Given the description of an element on the screen output the (x, y) to click on. 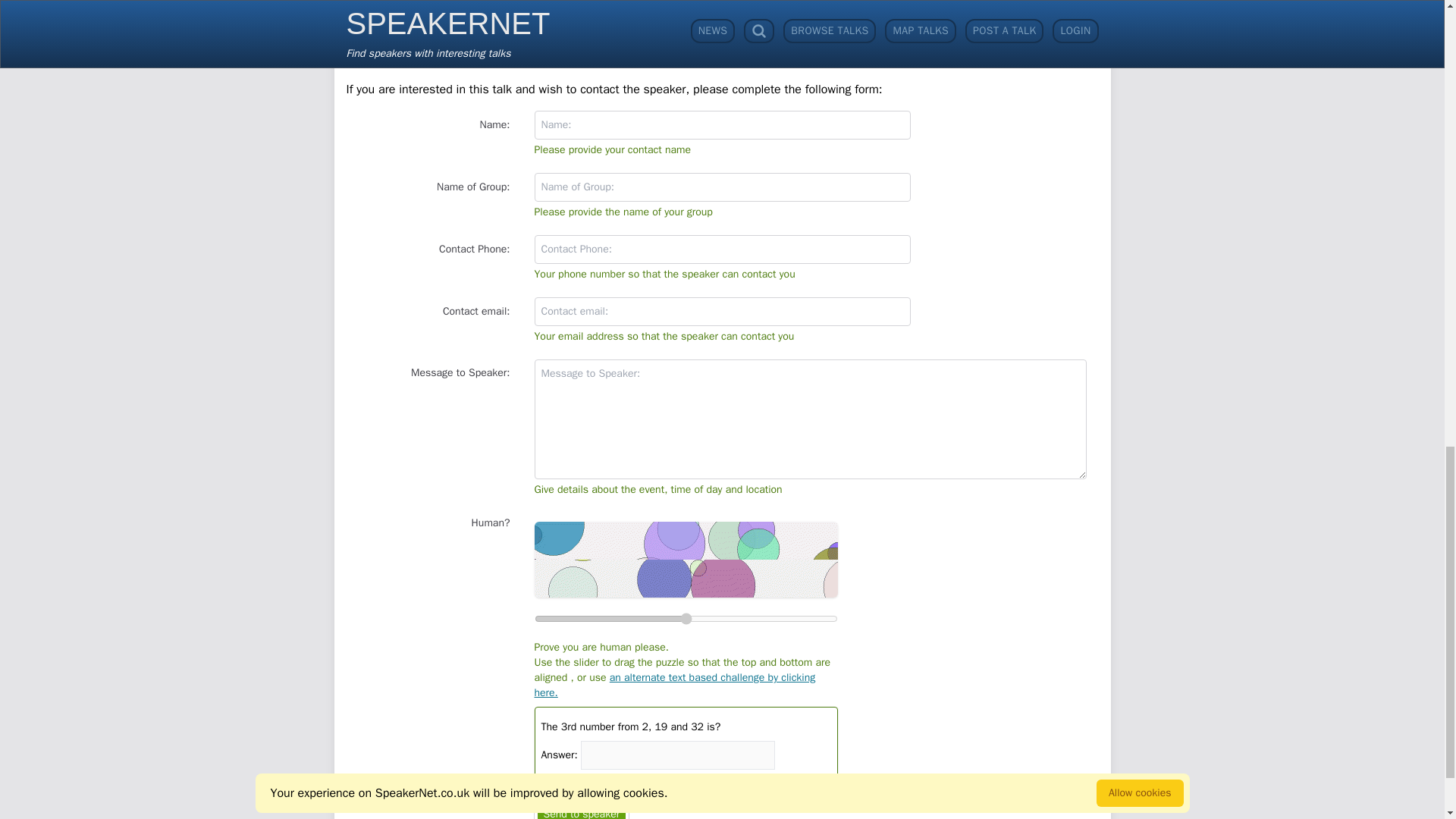
1200 (685, 618)
The Titanic and her times (454, 7)
an alternate text based challenge by clicking here. (674, 684)
